Given the description of an element on the screen output the (x, y) to click on. 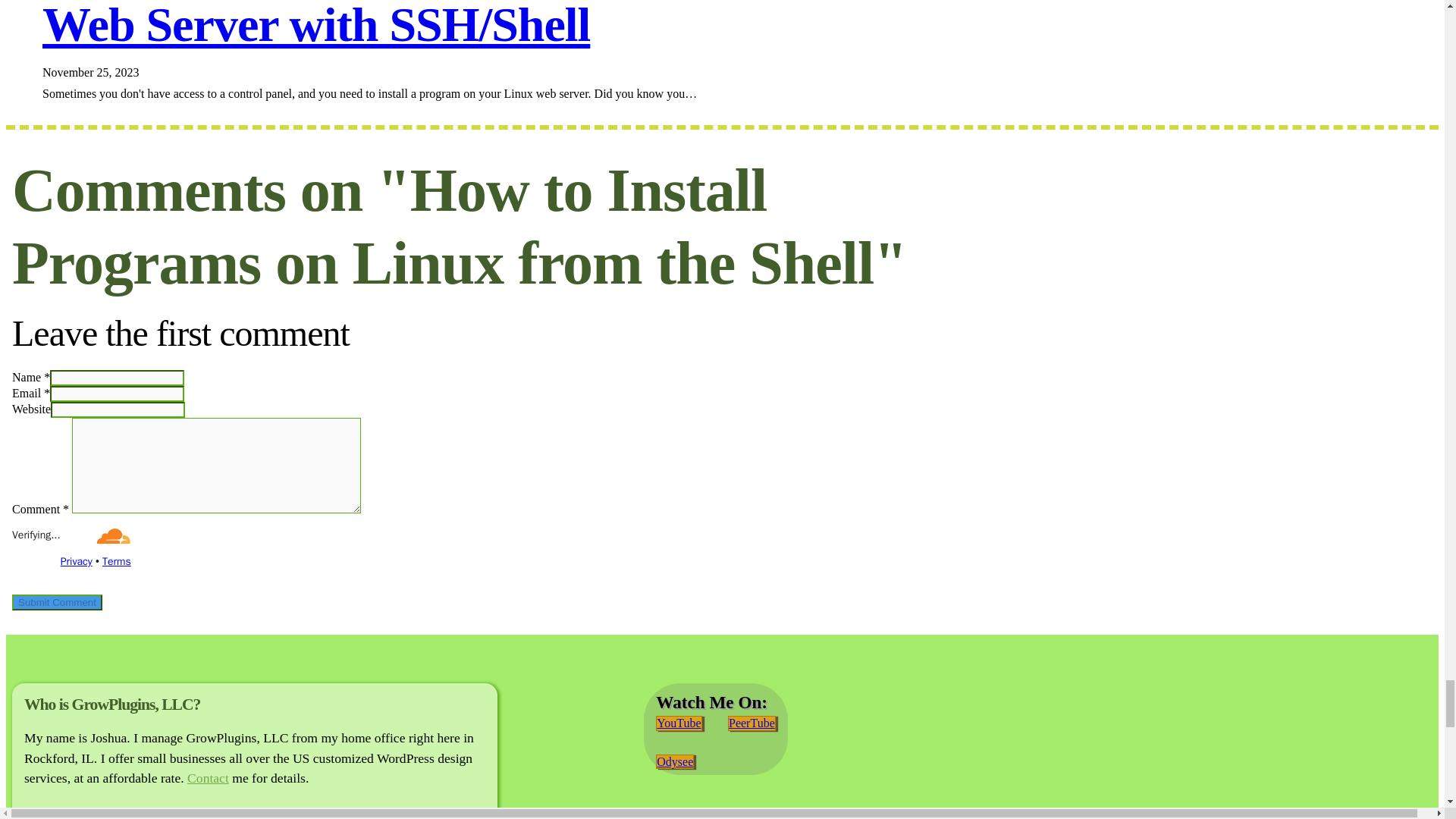
Find My Videos on Odysee (675, 761)
Find My Videos on PeerTube (752, 723)
Submit Comment (56, 602)
Find My Videos on YouTube (678, 723)
